Given the description of an element on the screen output the (x, y) to click on. 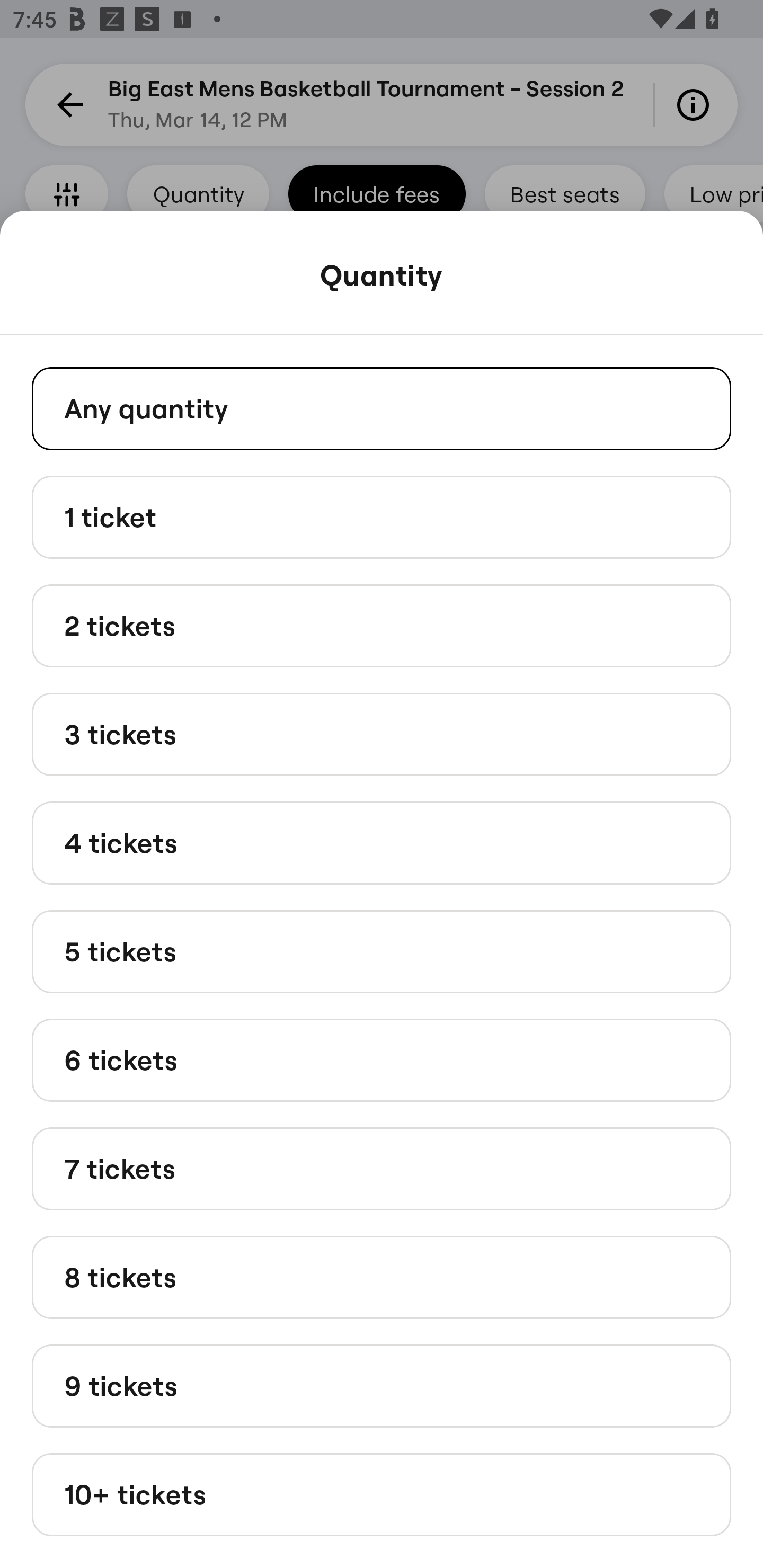
Any quantity (381, 408)
1 ticket (381, 516)
2 tickets (381, 625)
3 tickets (381, 734)
4 tickets (381, 842)
5 tickets (381, 950)
6 tickets (381, 1060)
7 tickets (381, 1168)
8 tickets (381, 1276)
9 tickets (381, 1384)
10+ tickets (381, 1494)
